Given the description of an element on the screen output the (x, y) to click on. 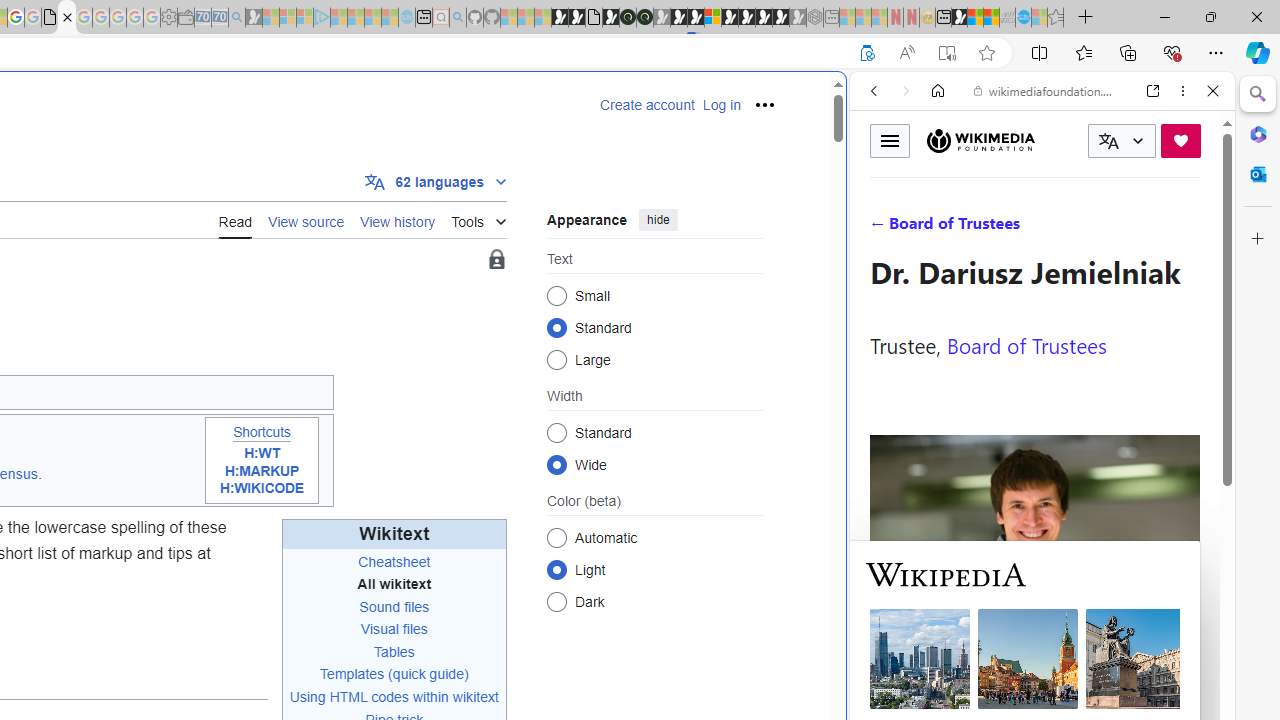
Automatic (556, 537)
H:MARKUP (261, 470)
